Given the description of an element on the screen output the (x, y) to click on. 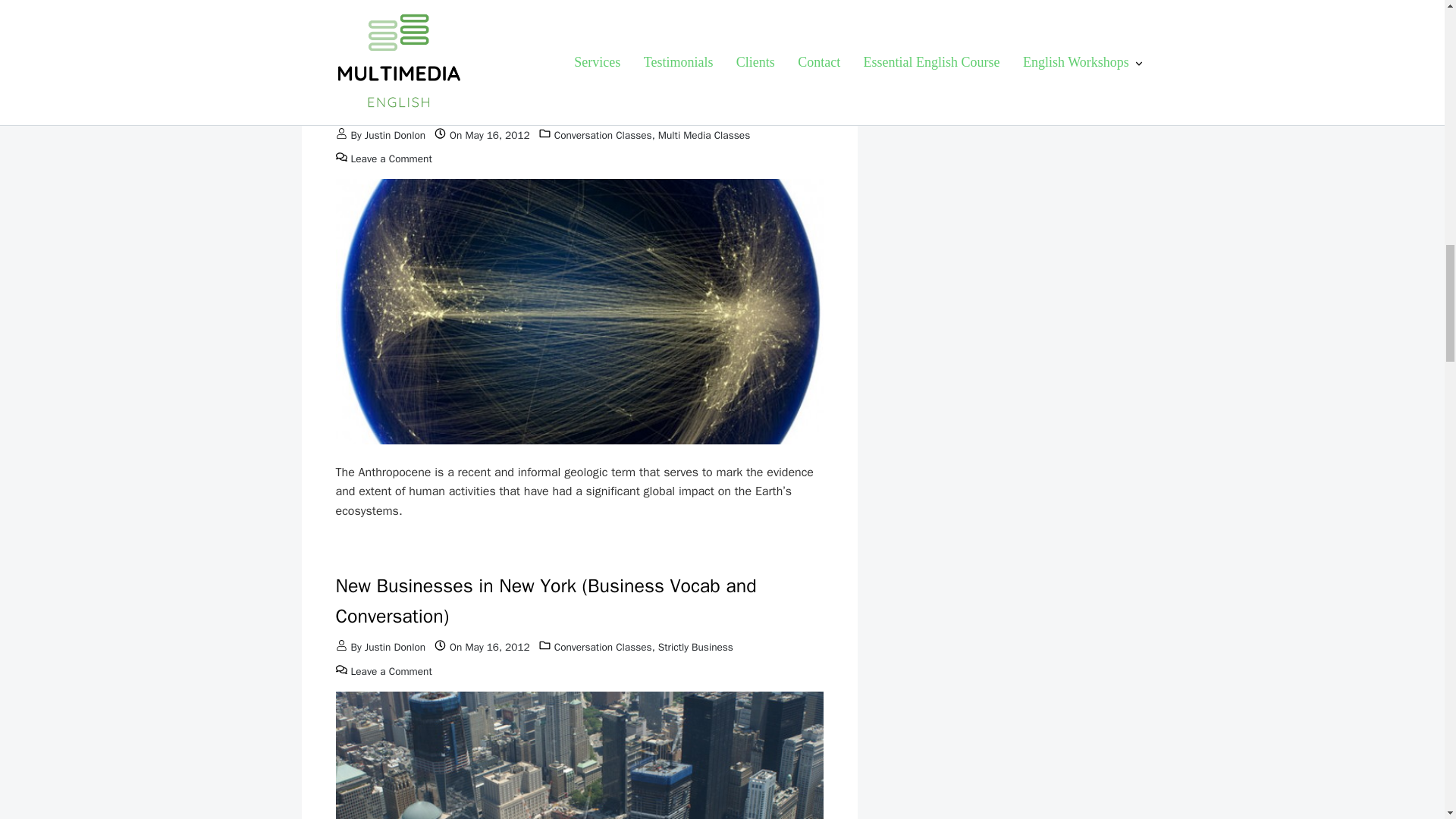
Read More (384, 33)
